Given the description of an element on the screen output the (x, y) to click on. 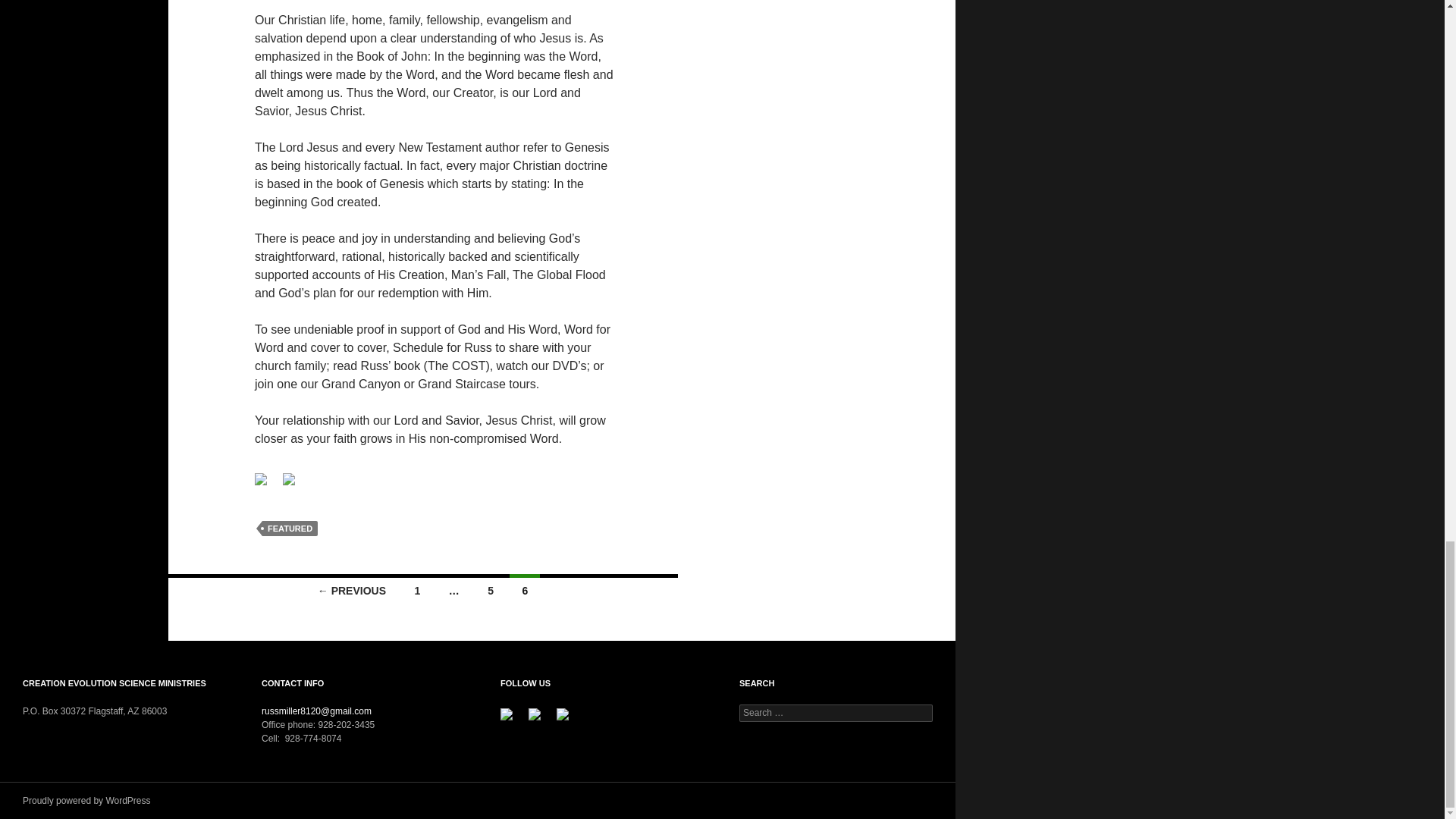
Share on Facebook (260, 479)
1 (416, 589)
Share on Facebook (266, 485)
Share by email (294, 485)
Share by email (288, 479)
FEATURED (289, 528)
5 (490, 589)
